Given the description of an element on the screen output the (x, y) to click on. 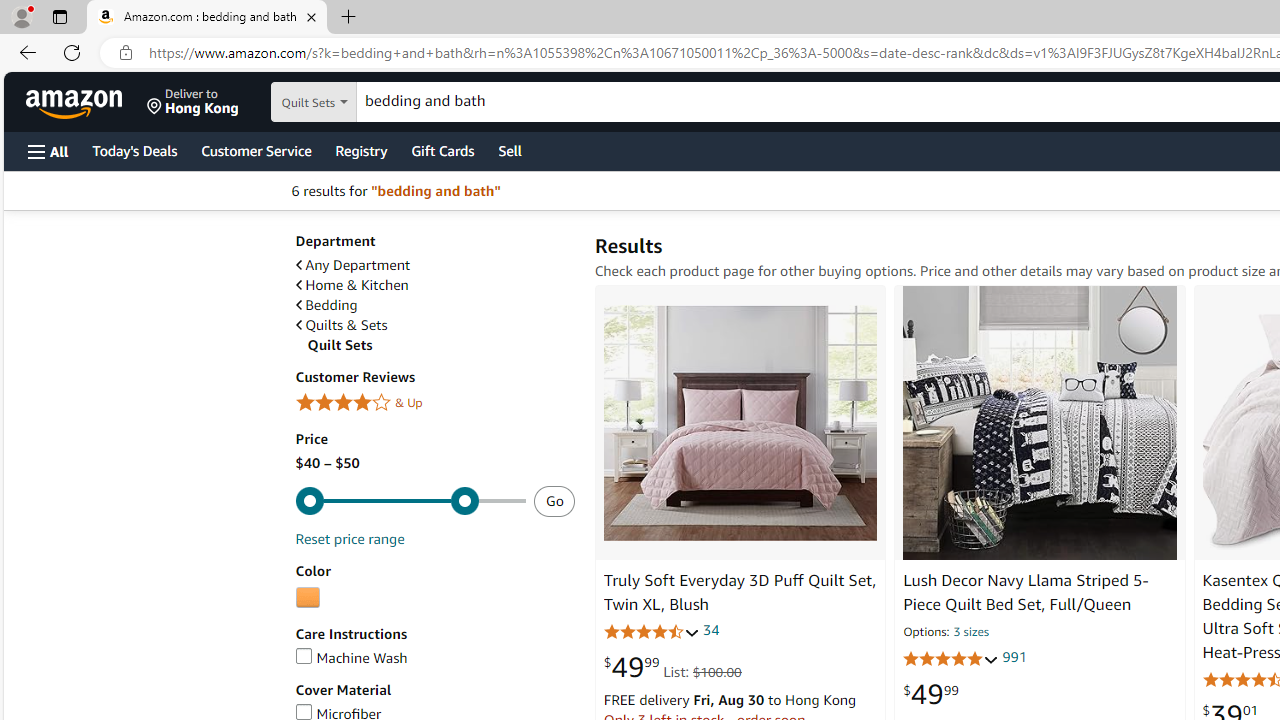
$49.99 (930, 694)
Registry (360, 150)
Search in (371, 102)
Orange (307, 597)
3 sizes (970, 632)
991 (1014, 658)
34 (710, 629)
4 Stars & Up (434, 403)
Quilts & Sets (434, 325)
Truly Soft Everyday 3D Puff Quilt Set, Twin XL, Blush (740, 422)
Truly Soft Everyday 3D Puff Quilt Set, Twin XL, Blush (739, 592)
Sell (509, 150)
